Given the description of an element on the screen output the (x, y) to click on. 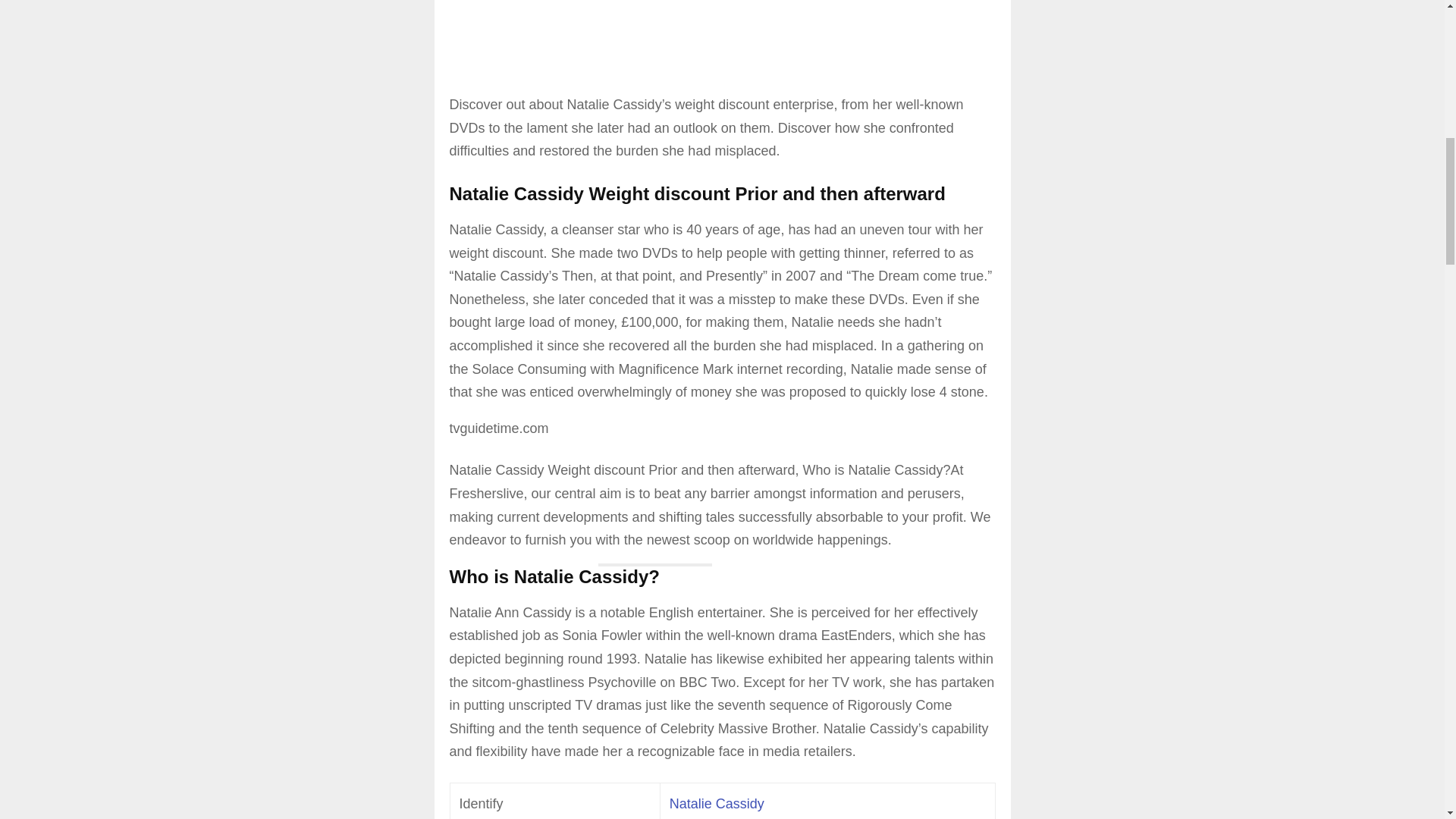
Natalie Cassidy (716, 803)
Advertisement (721, 27)
